Given the description of an element on the screen output the (x, y) to click on. 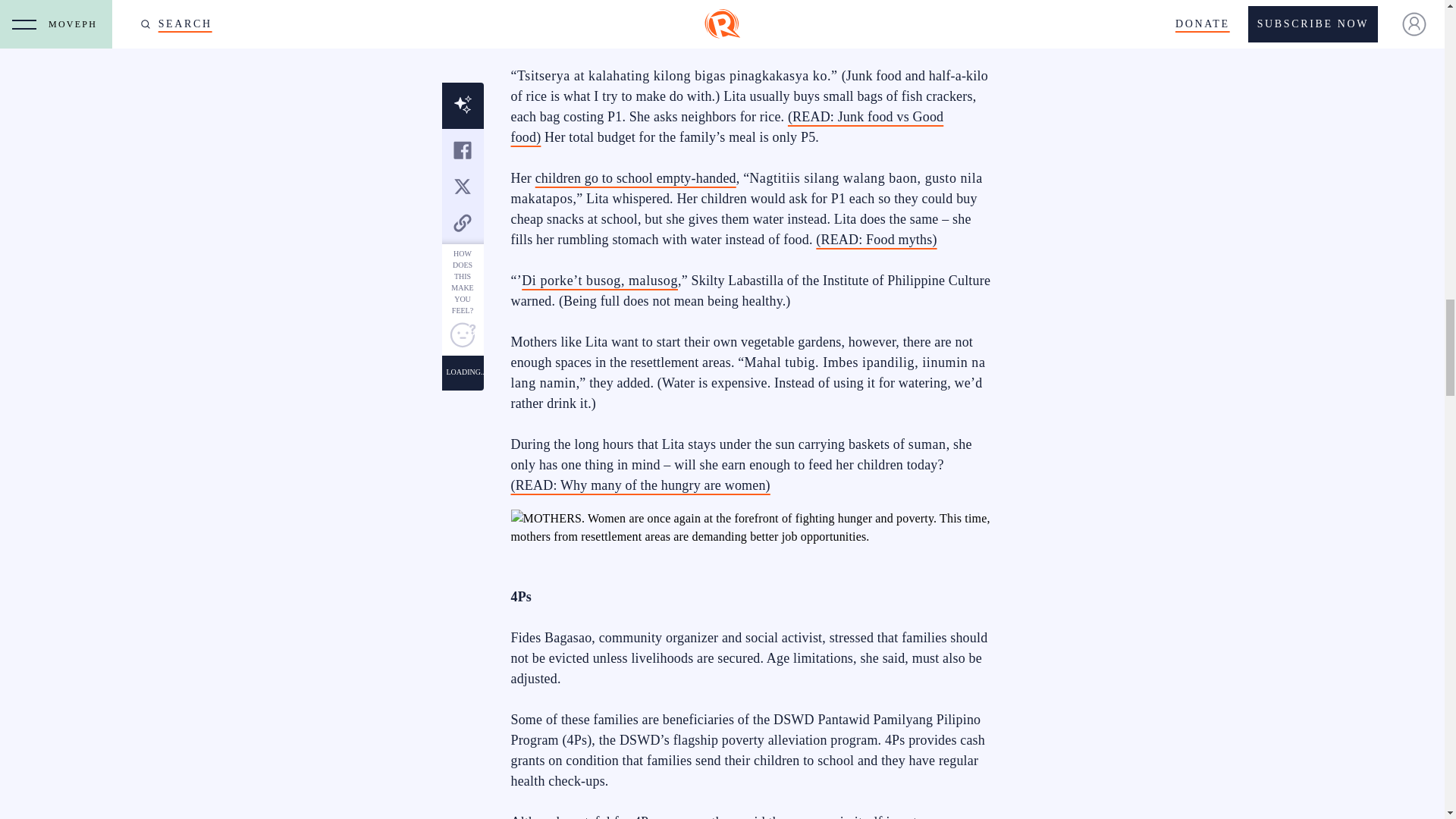
INFOGRAPHICS: Hidden hunger (599, 280)
Impacts of hunger on students (635, 177)
